Given the description of an element on the screen output the (x, y) to click on. 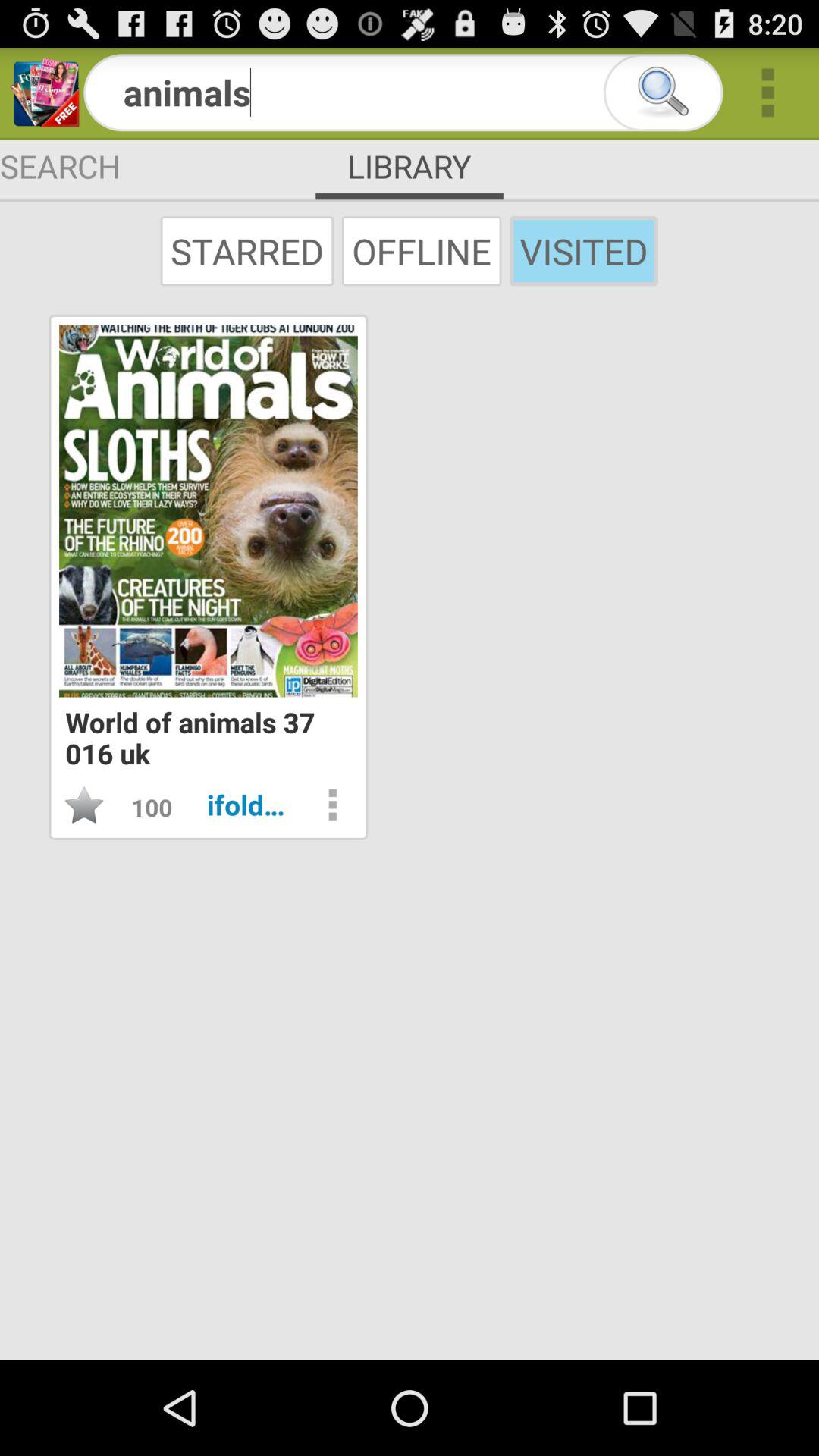
search (662, 92)
